Given the description of an element on the screen output the (x, y) to click on. 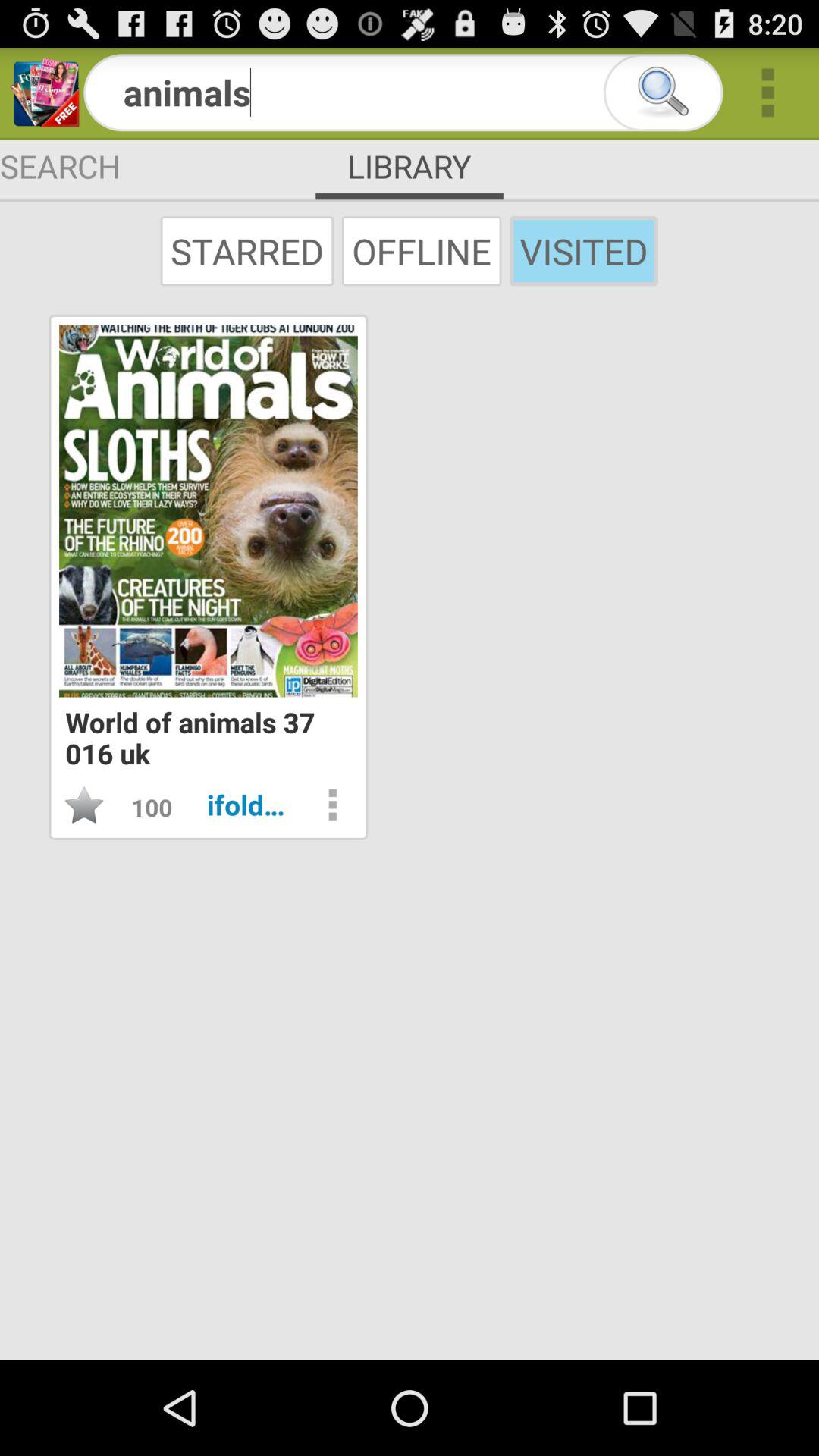
search (662, 92)
